Given the description of an element on the screen output the (x, y) to click on. 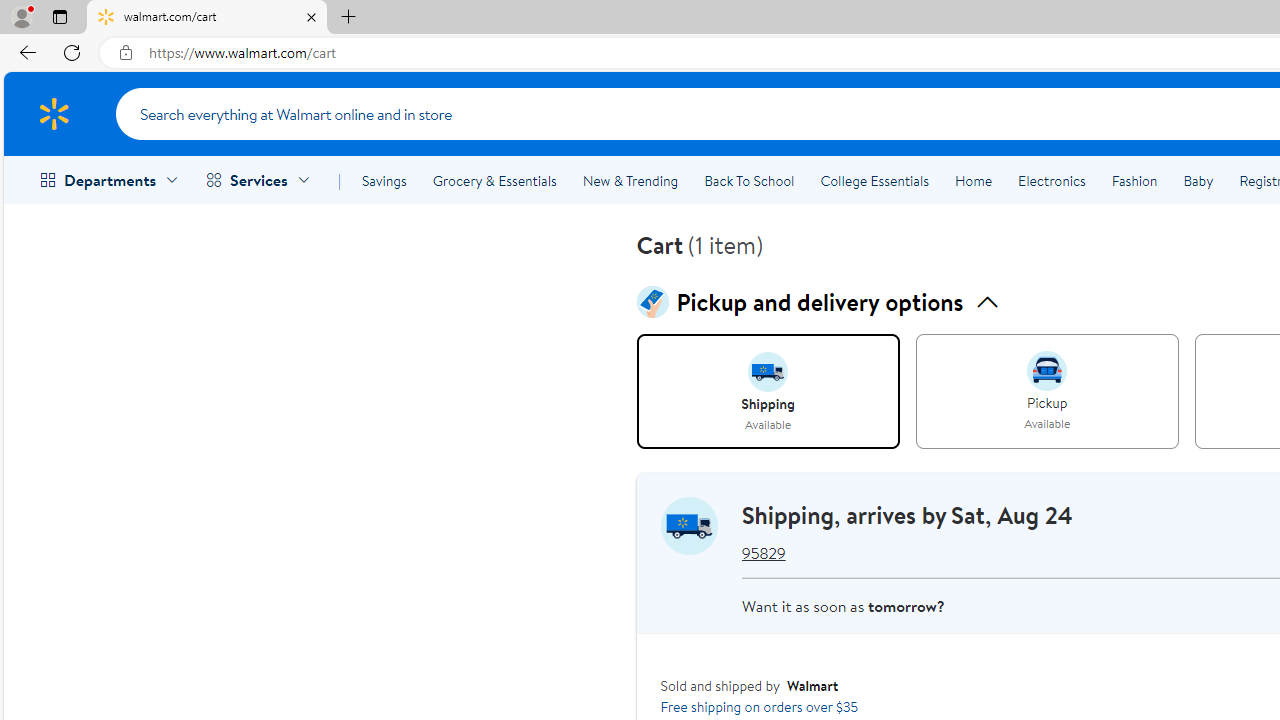
Grocery & Essentials (493, 180)
New & Trending (630, 180)
Grocery & Essentials (493, 180)
Savings (384, 180)
